Given the description of an element on the screen output the (x, y) to click on. 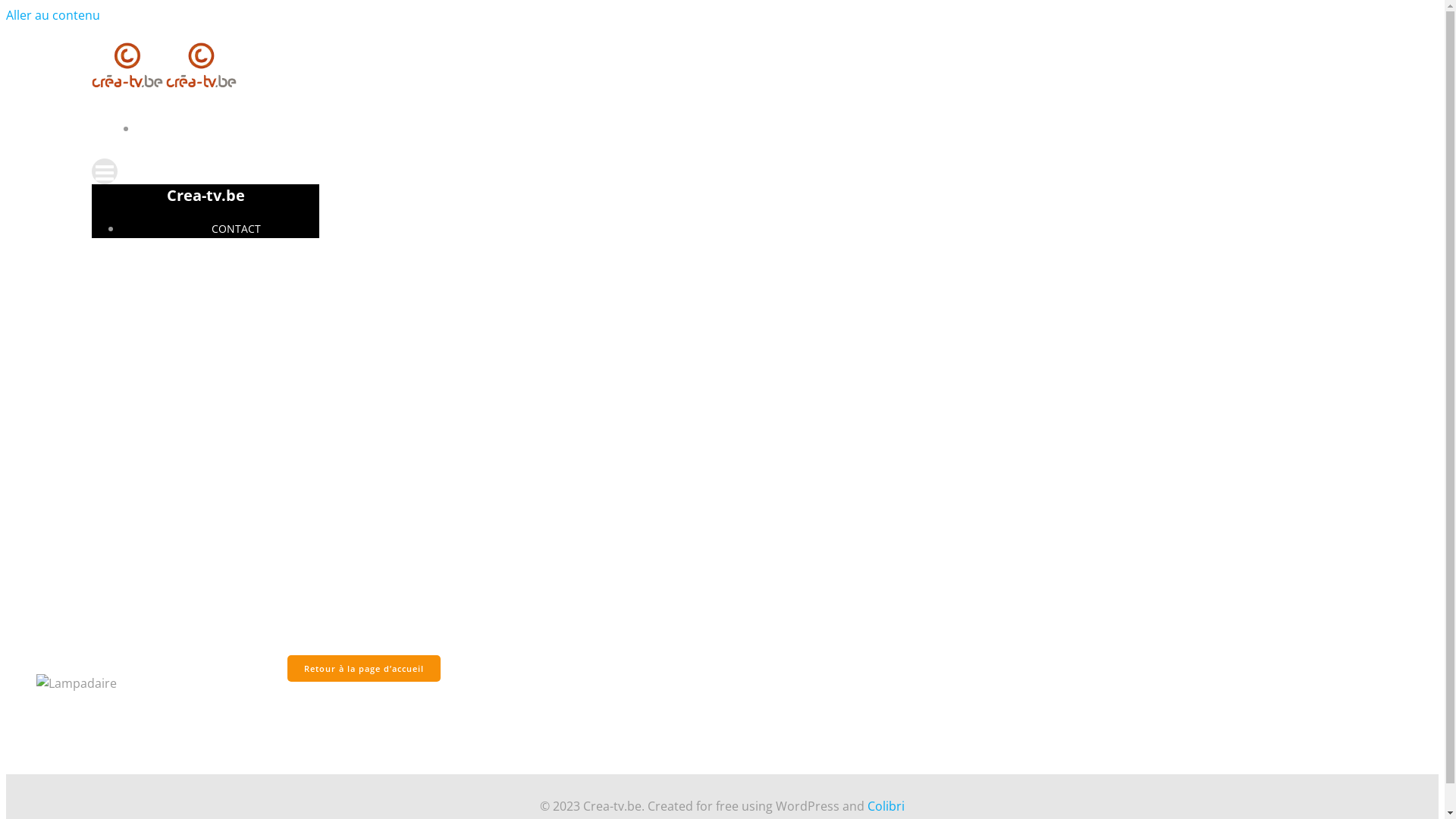
Aller au contenu Element type: text (53, 14)
Crea-tv.be Element type: text (205, 195)
CONTACT Element type: text (220, 228)
CONTACT Element type: text (737, 128)
Menu Element type: hover (721, 171)
Colibri Element type: text (885, 805)
